Given the description of an element on the screen output the (x, y) to click on. 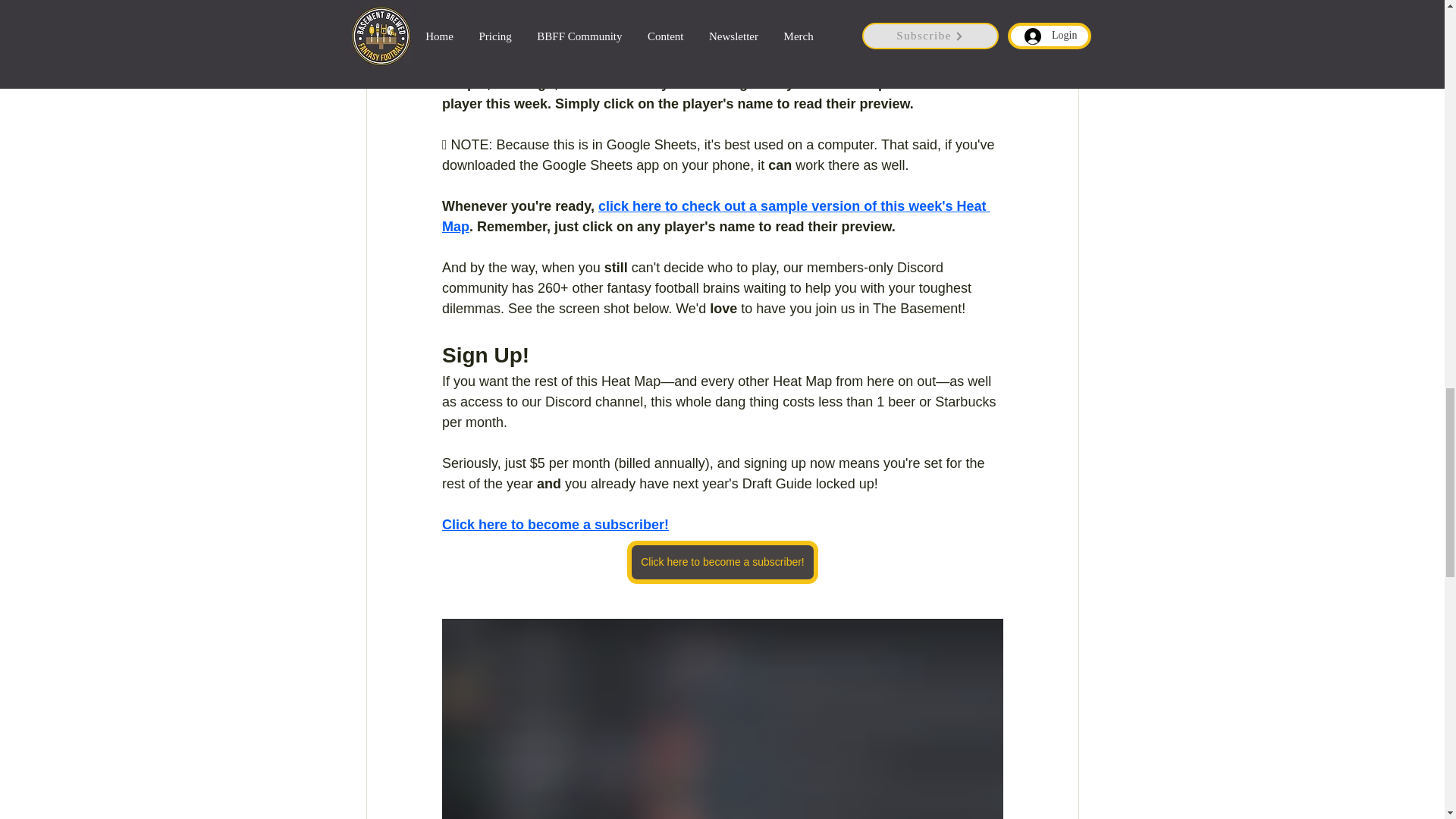
Click here to become a subscriber! (554, 524)
Click here to become a subscriber! (722, 561)
